Given the description of an element on the screen output the (x, y) to click on. 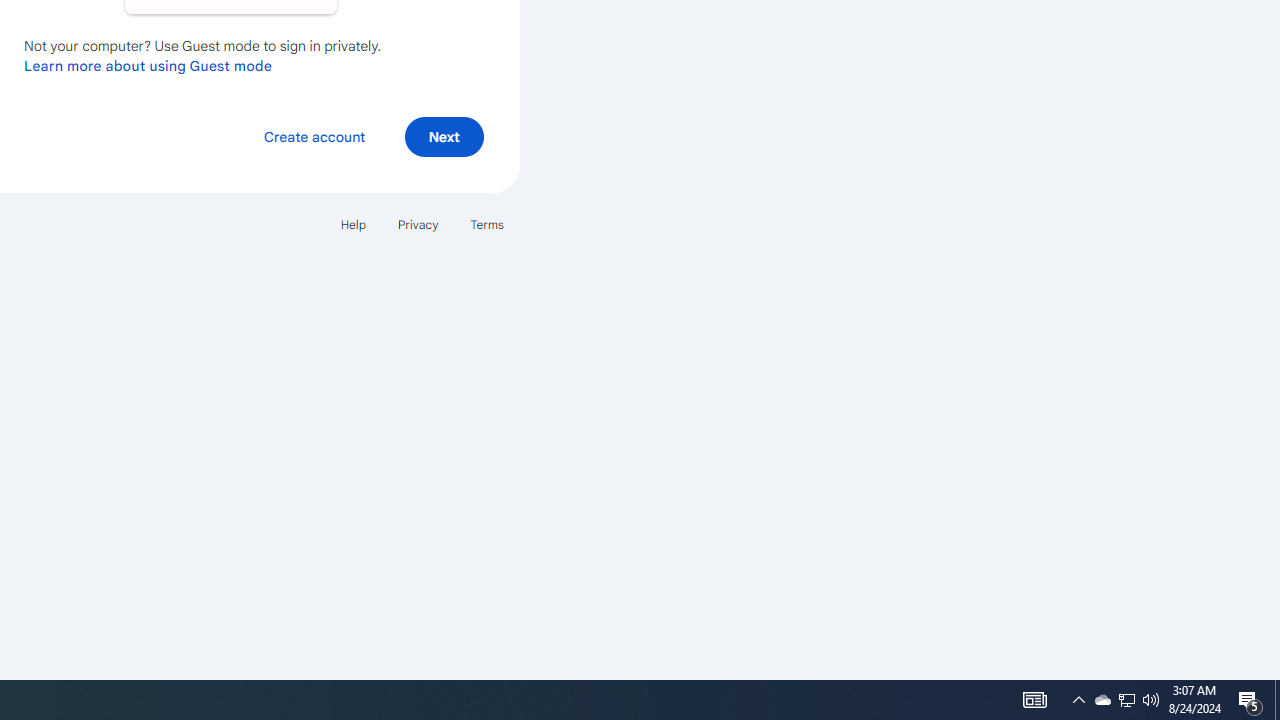
Learn more about using Guest mode (148, 65)
Create account (314, 135)
